Given the description of an element on the screen output the (x, y) to click on. 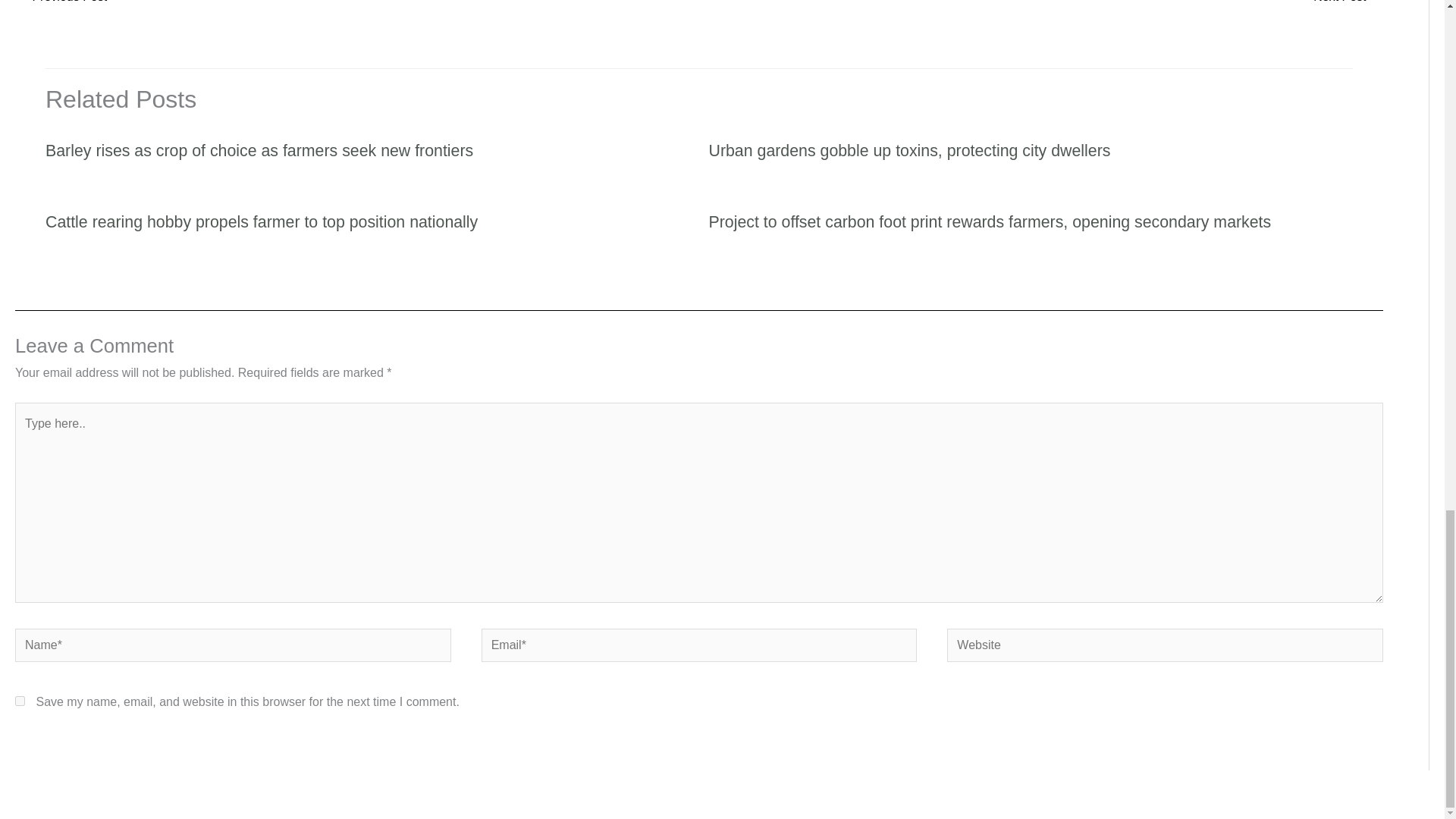
yes (19, 700)
Ugandan farmers court urine to boost soil fertility (61, 6)
Urban gardens gobble up toxins, protecting city dwellers (908, 150)
Barley rises as crop of choice as farmers seek new frontiers (259, 150)
